Given the description of an element on the screen output the (x, y) to click on. 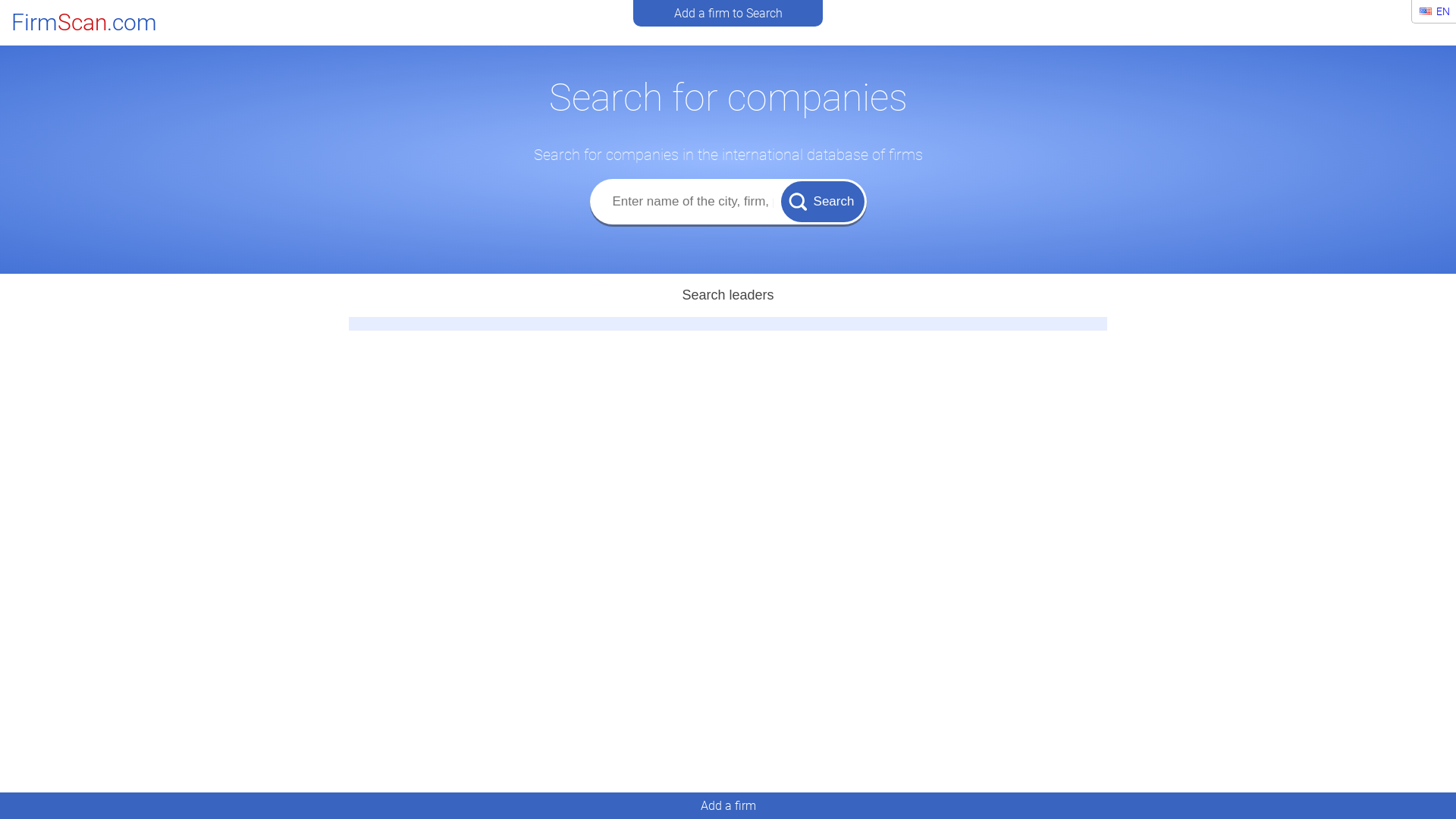
Search Element type: text (822, 200)
EN Element type: text (1434, 11)
